Given the description of an element on the screen output the (x, y) to click on. 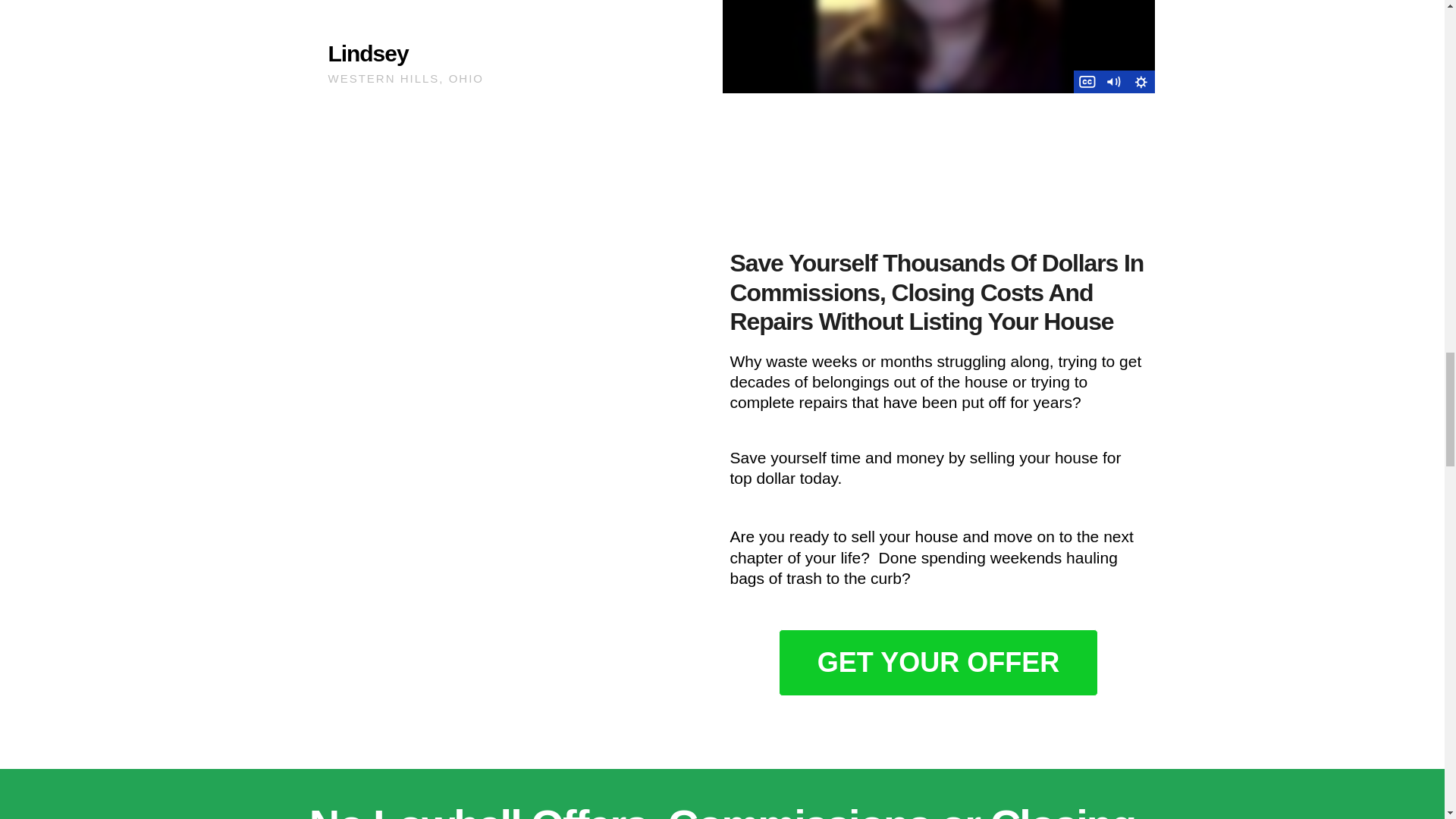
GET YOUR OFFER (937, 662)
Show settings menu (1140, 81)
